Given the description of an element on the screen output the (x, y) to click on. 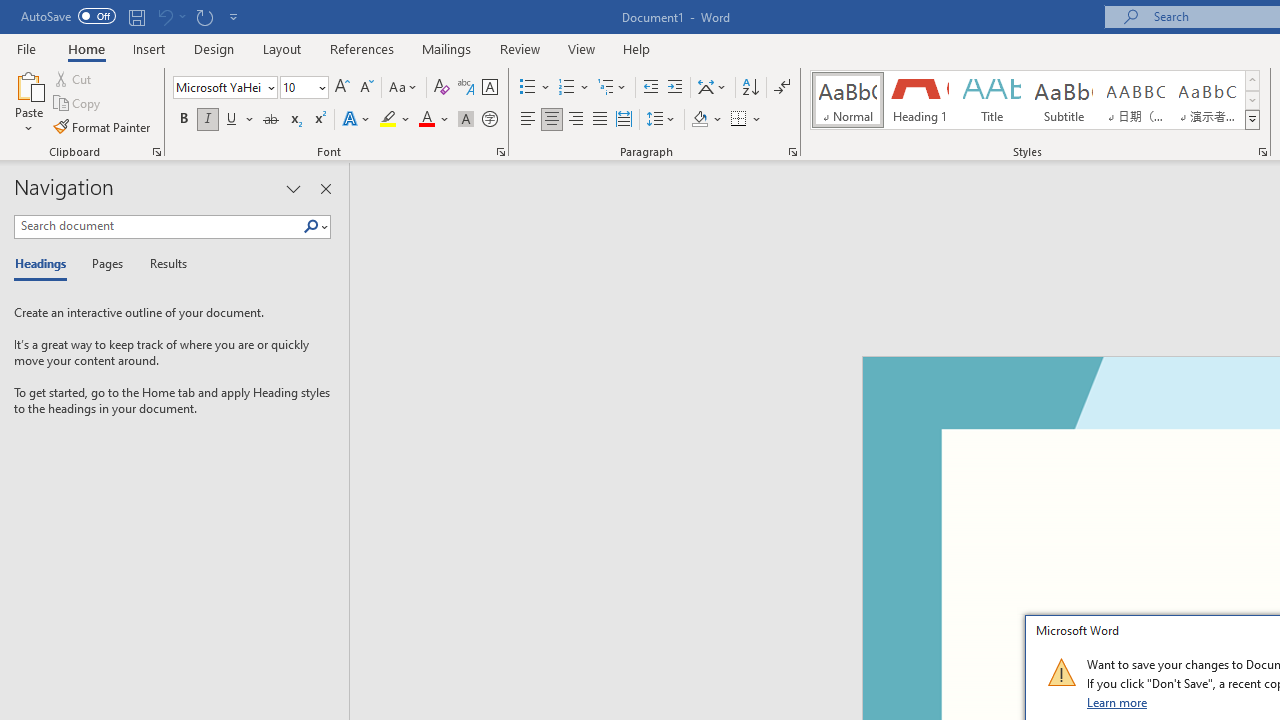
Learn more (1118, 702)
Can't Undo (170, 15)
